Given the description of an element on the screen output the (x, y) to click on. 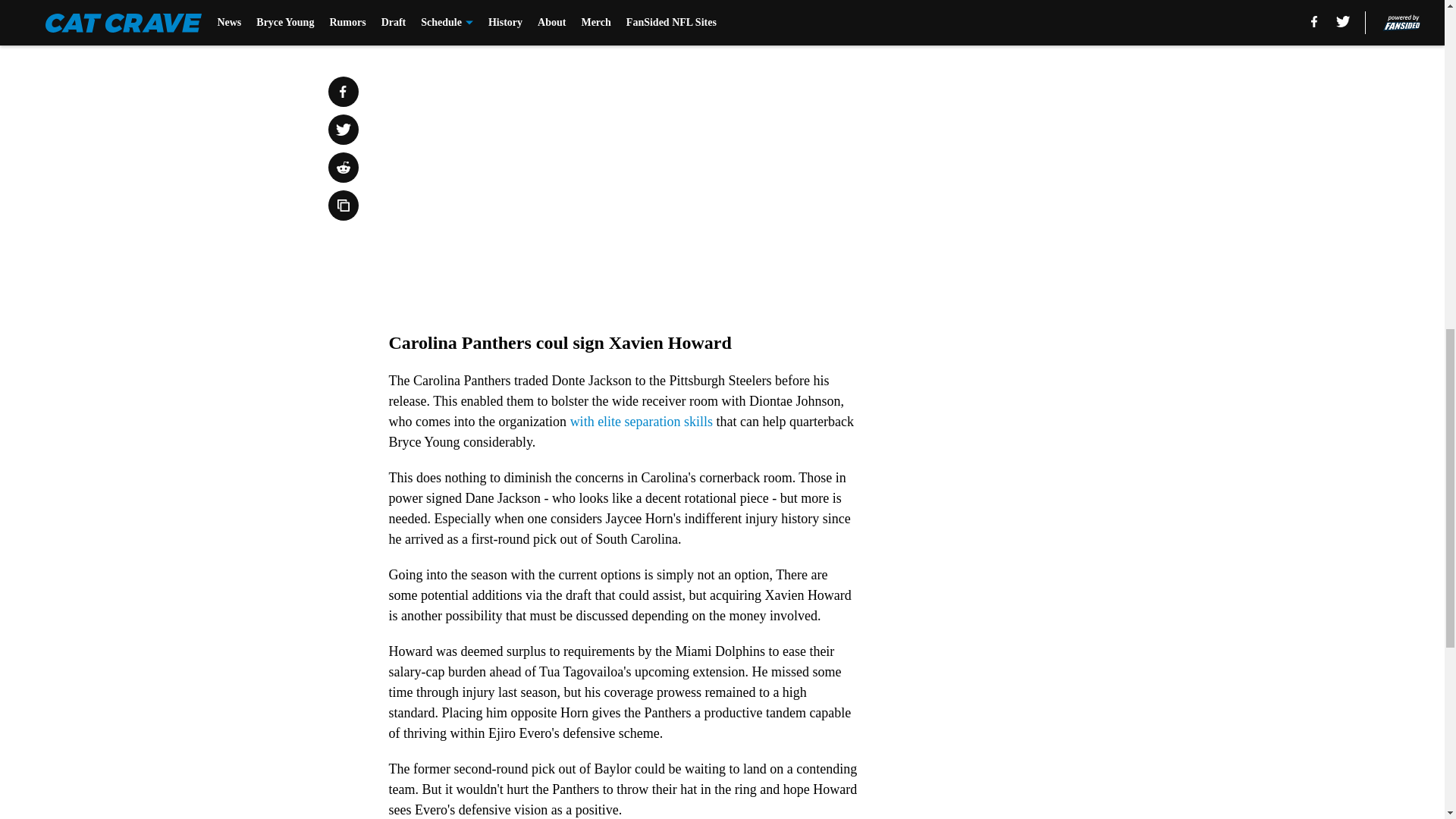
with elite separation skills (641, 421)
Next (813, 20)
Prev (433, 20)
